Given the description of an element on the screen output the (x, y) to click on. 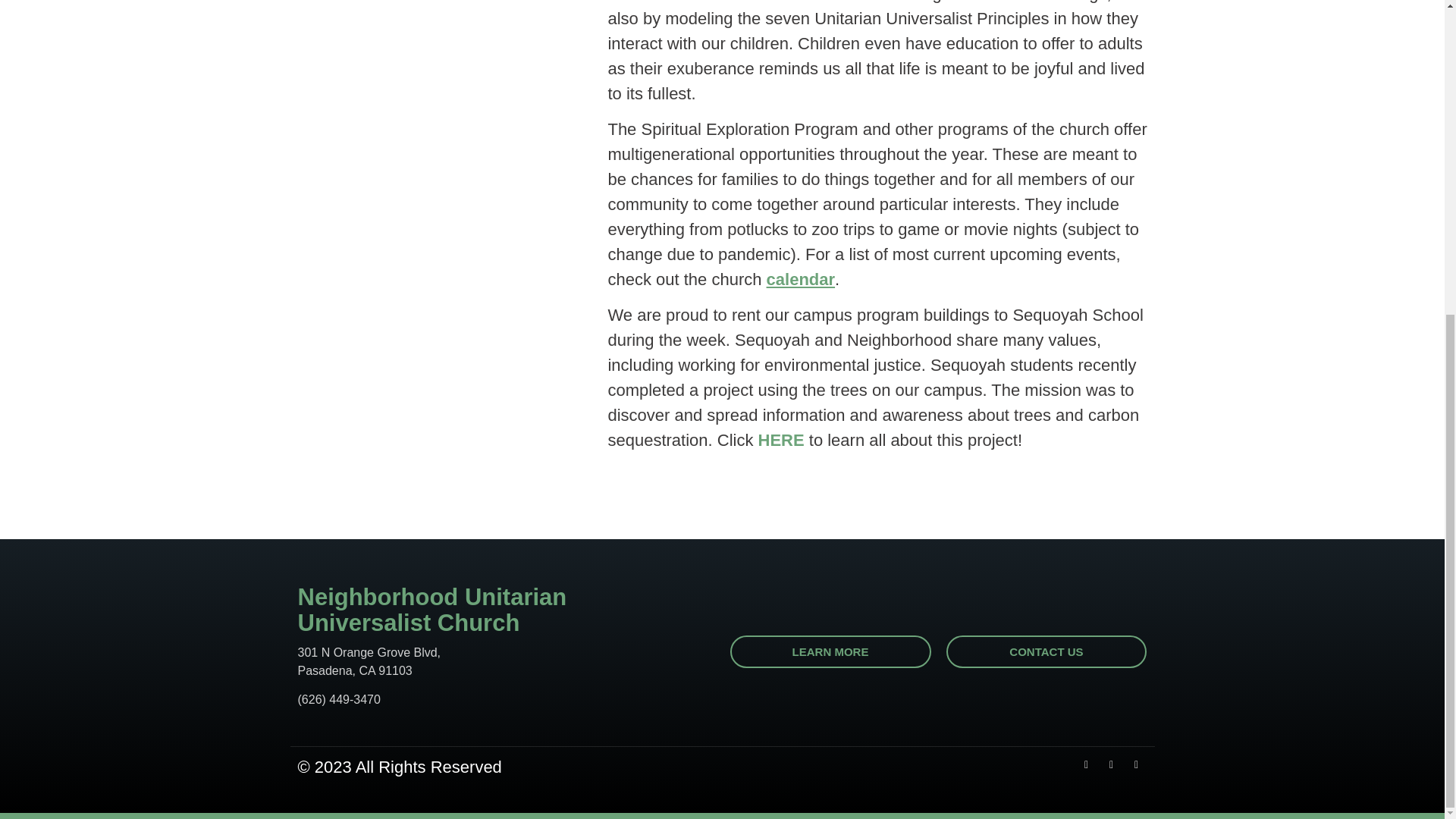
CONTACT US (1046, 651)
calendar (801, 279)
HERE (781, 439)
LEARN MORE (829, 651)
